Given the description of an element on the screen output the (x, y) to click on. 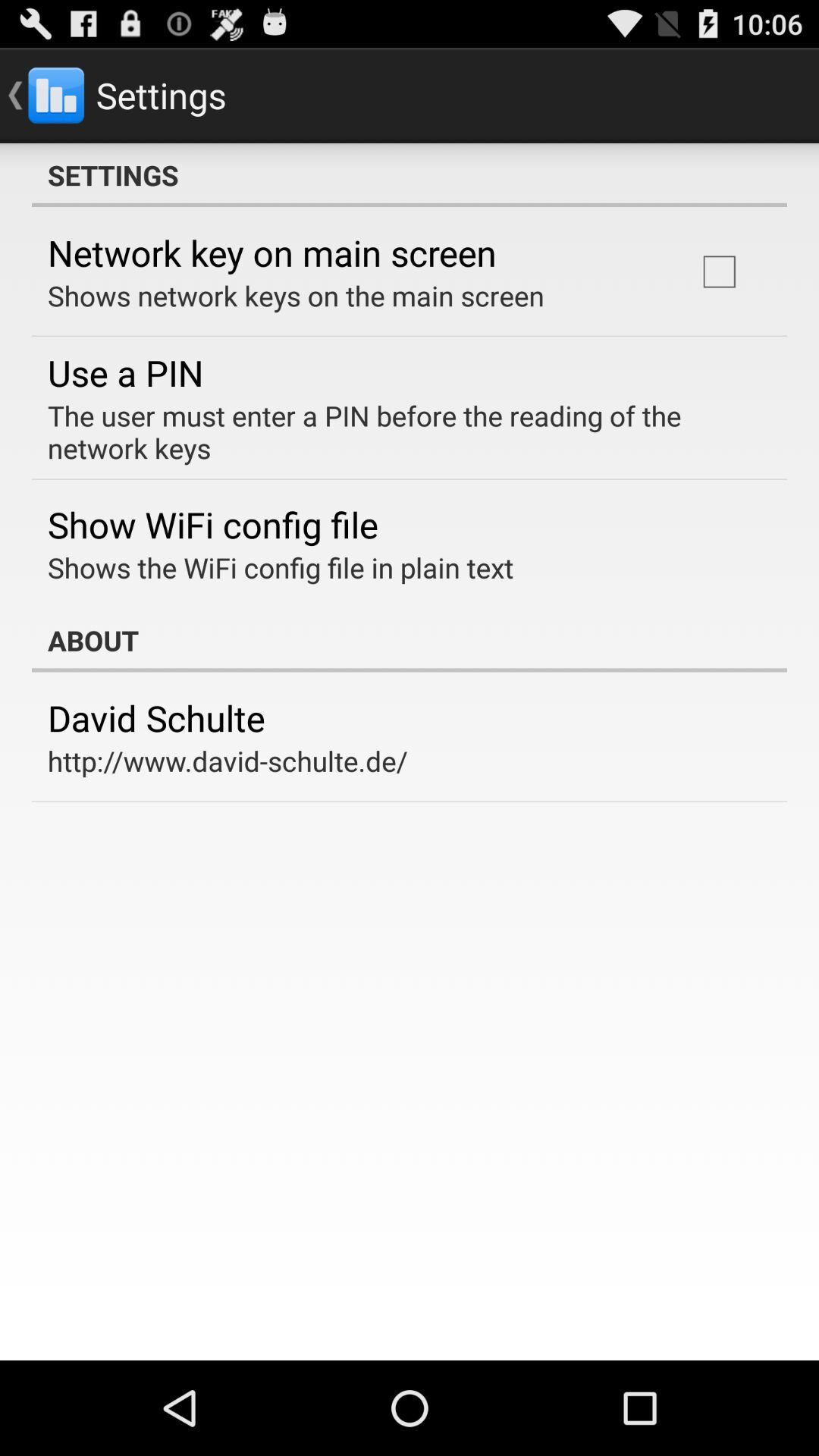
select the icon below settings icon (719, 271)
